Given the description of an element on the screen output the (x, y) to click on. 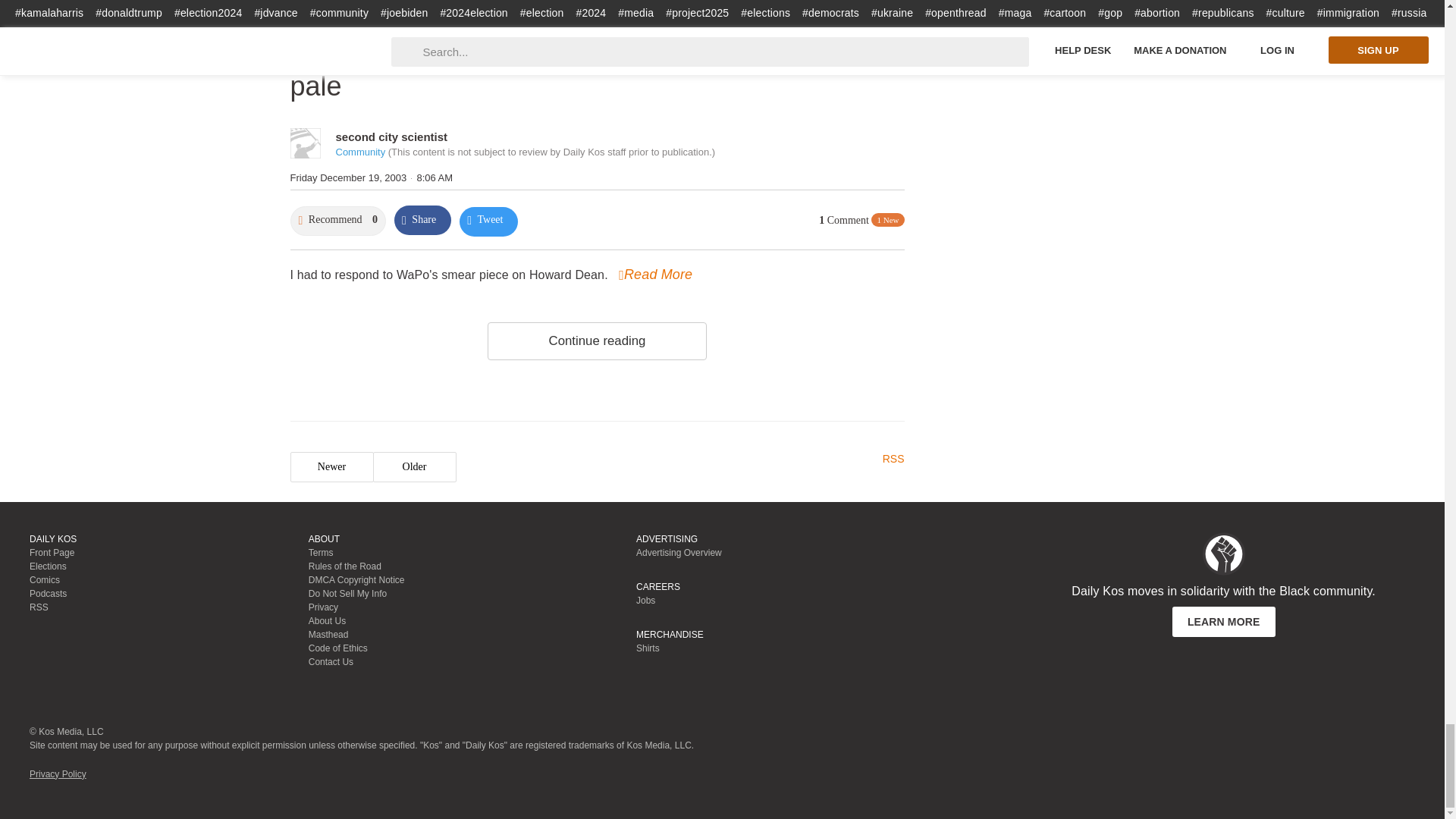
1 Comment 1 New (861, 220)
